Given the description of an element on the screen output the (x, y) to click on. 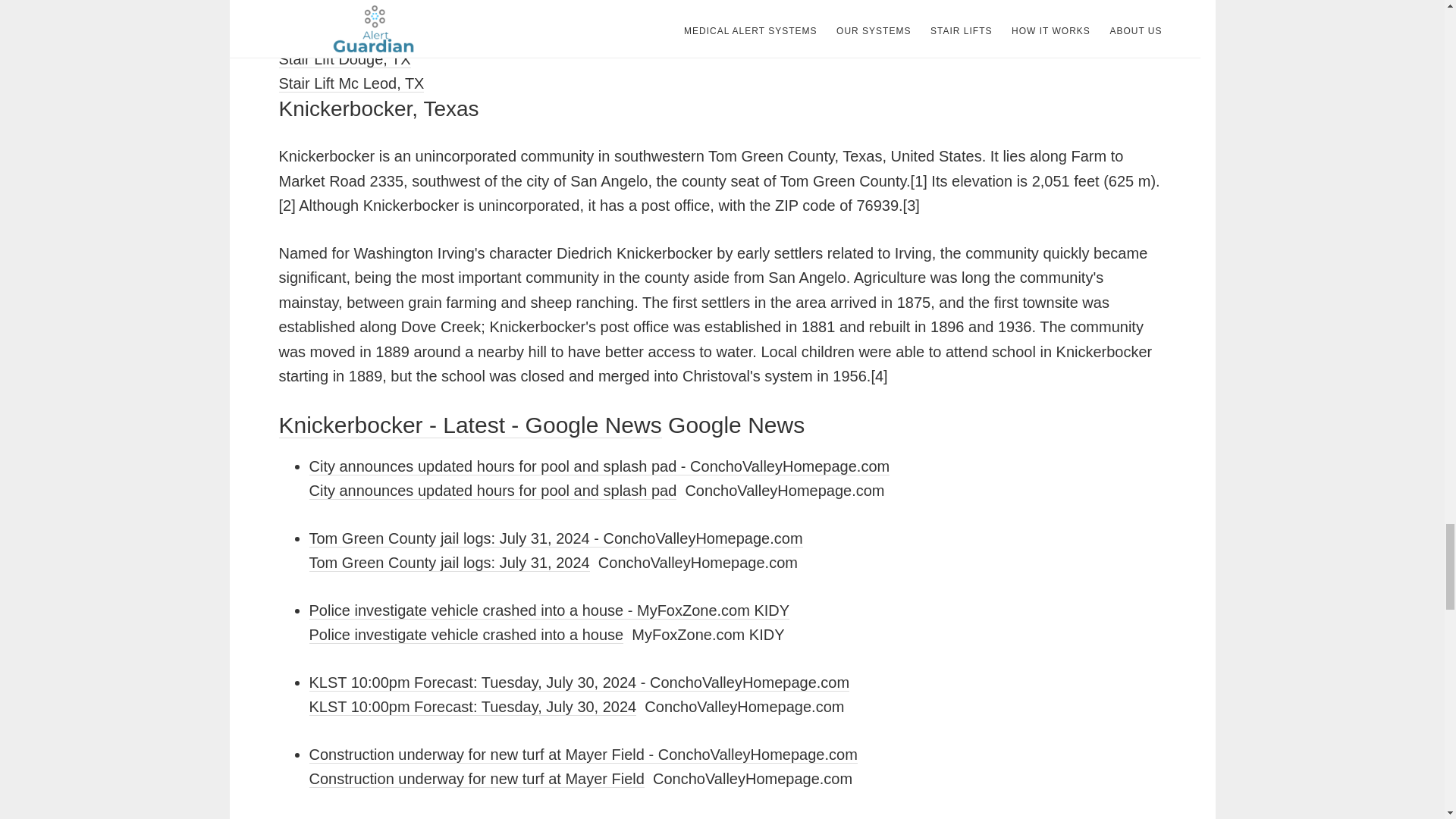
Stair Lift Dodge, TX (344, 58)
Stair Lift Del Valle, TX (352, 9)
Stair Lift Mc Leod, TX (352, 83)
Stair Lift Sherman, TX (353, 34)
